Given the description of an element on the screen output the (x, y) to click on. 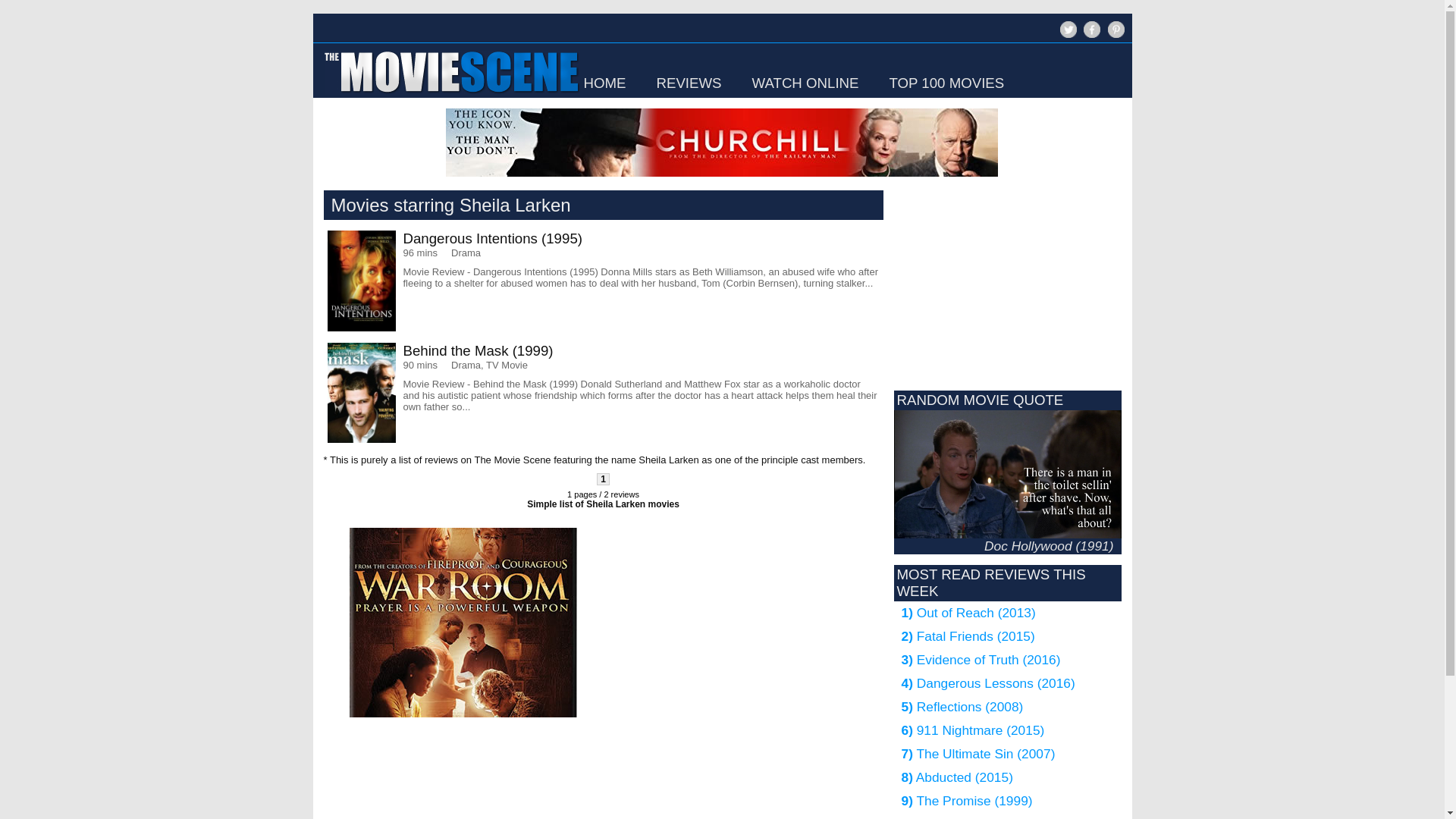
The Movie Scene - homepage (449, 94)
REVIEWS (688, 83)
TOP 100 MOVIES (946, 83)
Follow The Movie Scene on Pinterest (1113, 37)
paid link - takes you to Amazon (721, 142)
Simple list of Sheila Larken movies (603, 503)
Like The Movie Scene on facebook (1090, 37)
Follow The Movie Scene on Twitter (1067, 37)
Click here for review of Dangerous Intentions (603, 280)
Like The Movie Scene on facebook (1091, 29)
